Given the description of an element on the screen output the (x, y) to click on. 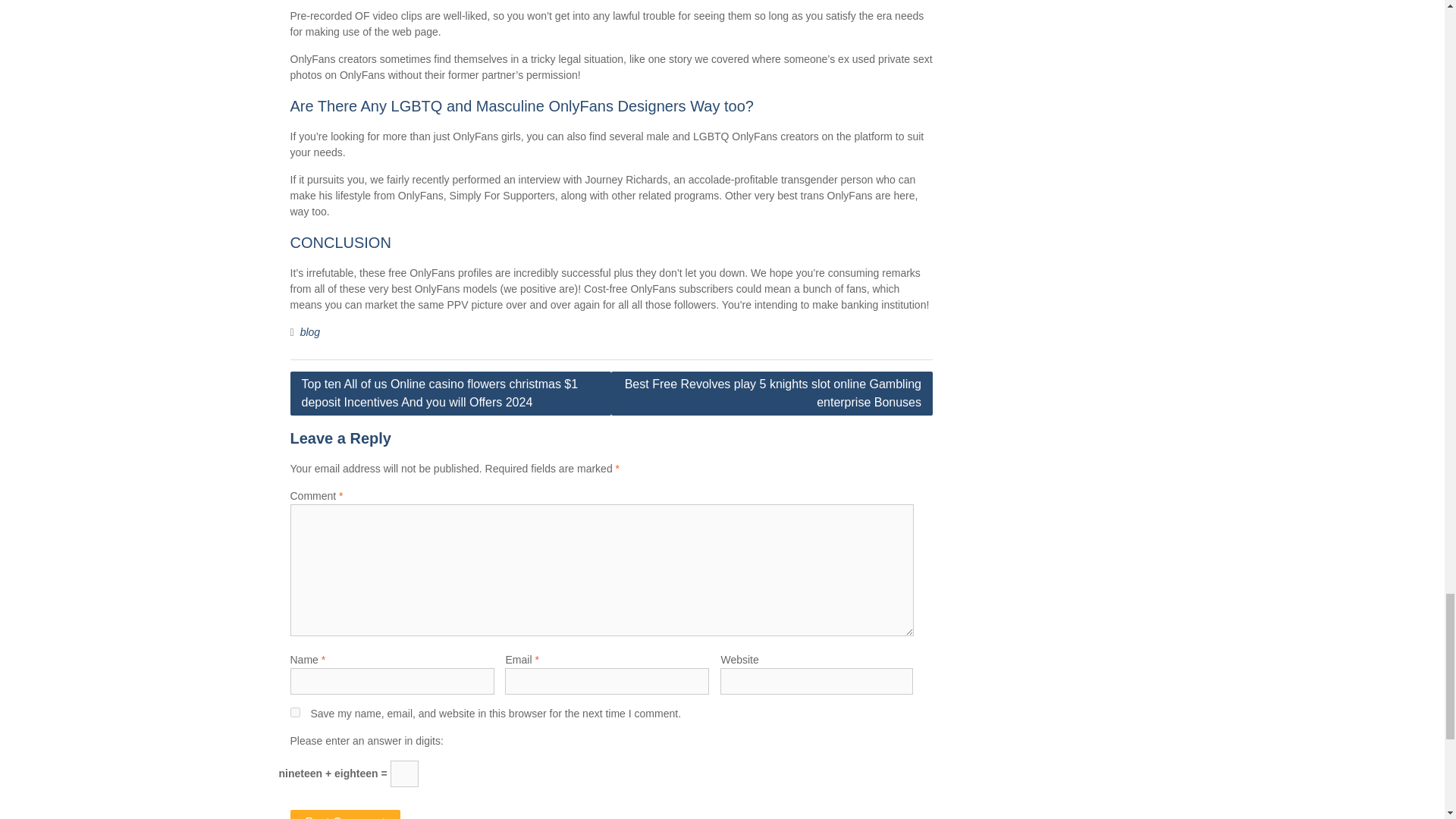
yes (294, 712)
Post Comment (344, 814)
